Given the description of an element on the screen output the (x, y) to click on. 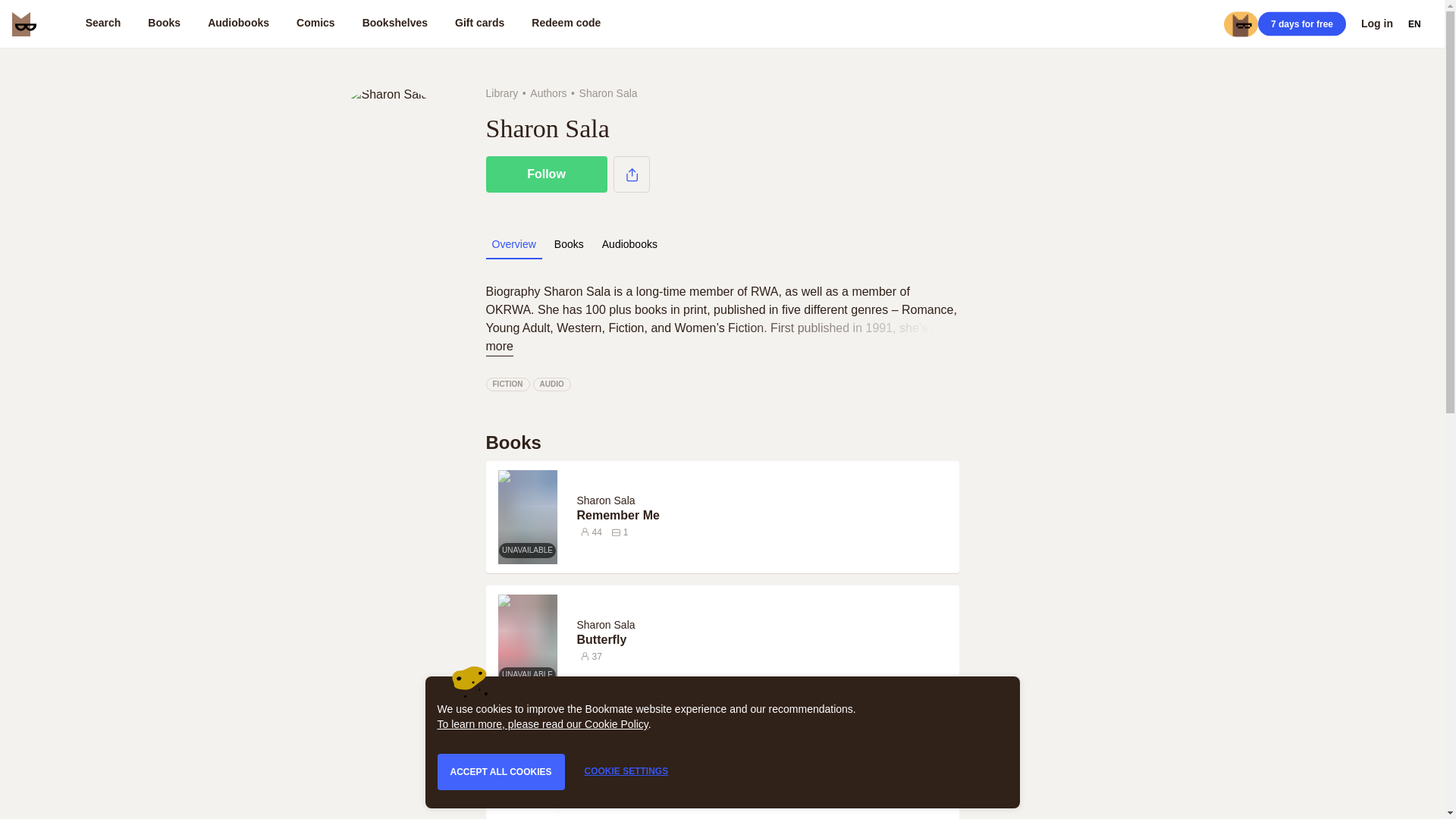
Remember Me (764, 515)
Follow (545, 174)
To learn more, please read our Cookie Policy (541, 724)
Snowfall (764, 764)
FICTION (506, 384)
AUDIO (551, 384)
Sharon Sala (608, 499)
Butterfly (764, 639)
Audiobooks (629, 244)
Sharon Sala (605, 500)
